Given the description of an element on the screen output the (x, y) to click on. 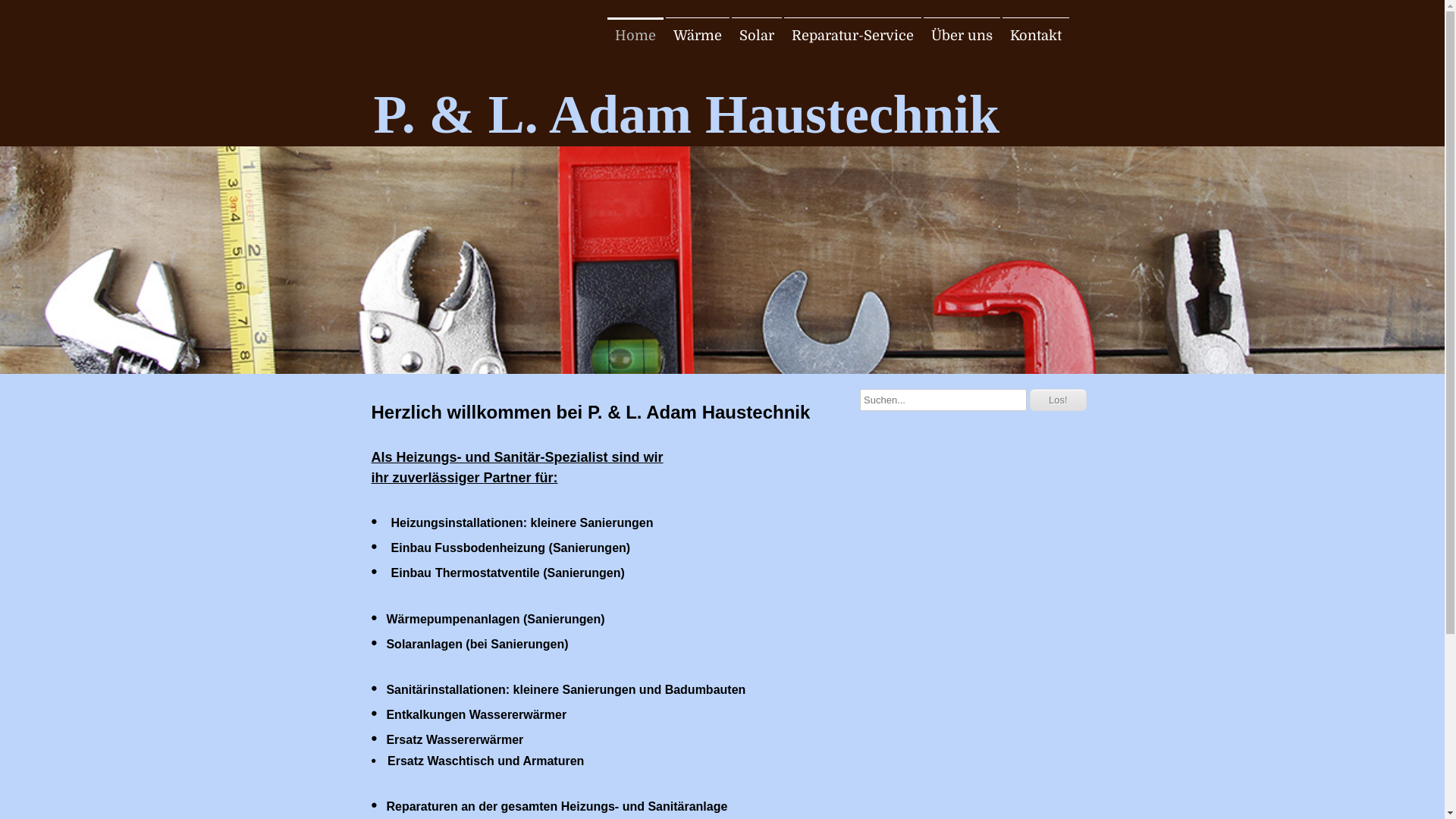
Solar Element type: text (756, 35)
                      P. & L. Adam Haustechnik Element type: text (456, 73)
Reparatur-Service Element type: text (852, 35)
Kontakt Element type: text (1035, 35)
Los! Element type: text (1057, 400)
Home Element type: text (634, 35)
